Given the description of an element on the screen output the (x, y) to click on. 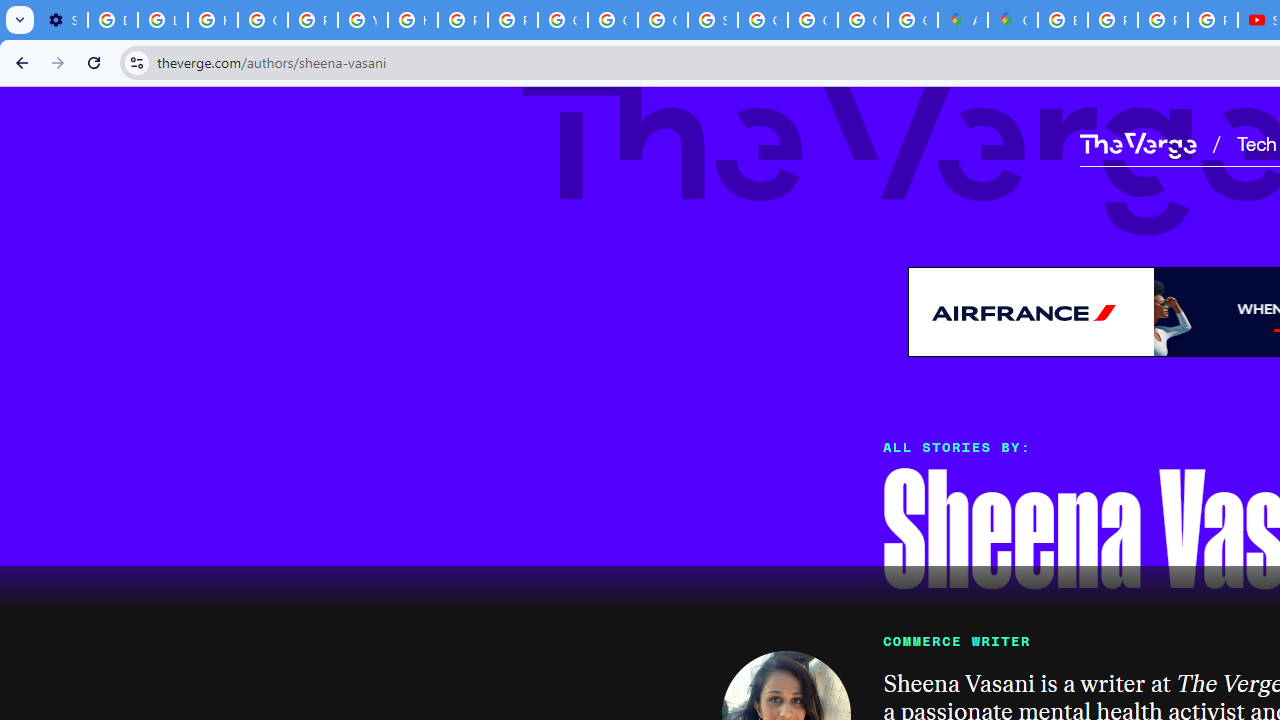
Privacy Help Center - Policies Help (462, 20)
Privacy Help Center - Policies Help (1112, 20)
Delete photos & videos - Computer - Google Photos Help (113, 20)
Privacy Help Center - Policies Help (312, 20)
Sign in - Google Accounts (712, 20)
The Verge homepage The Verge (1137, 142)
